Given the description of an element on the screen output the (x, y) to click on. 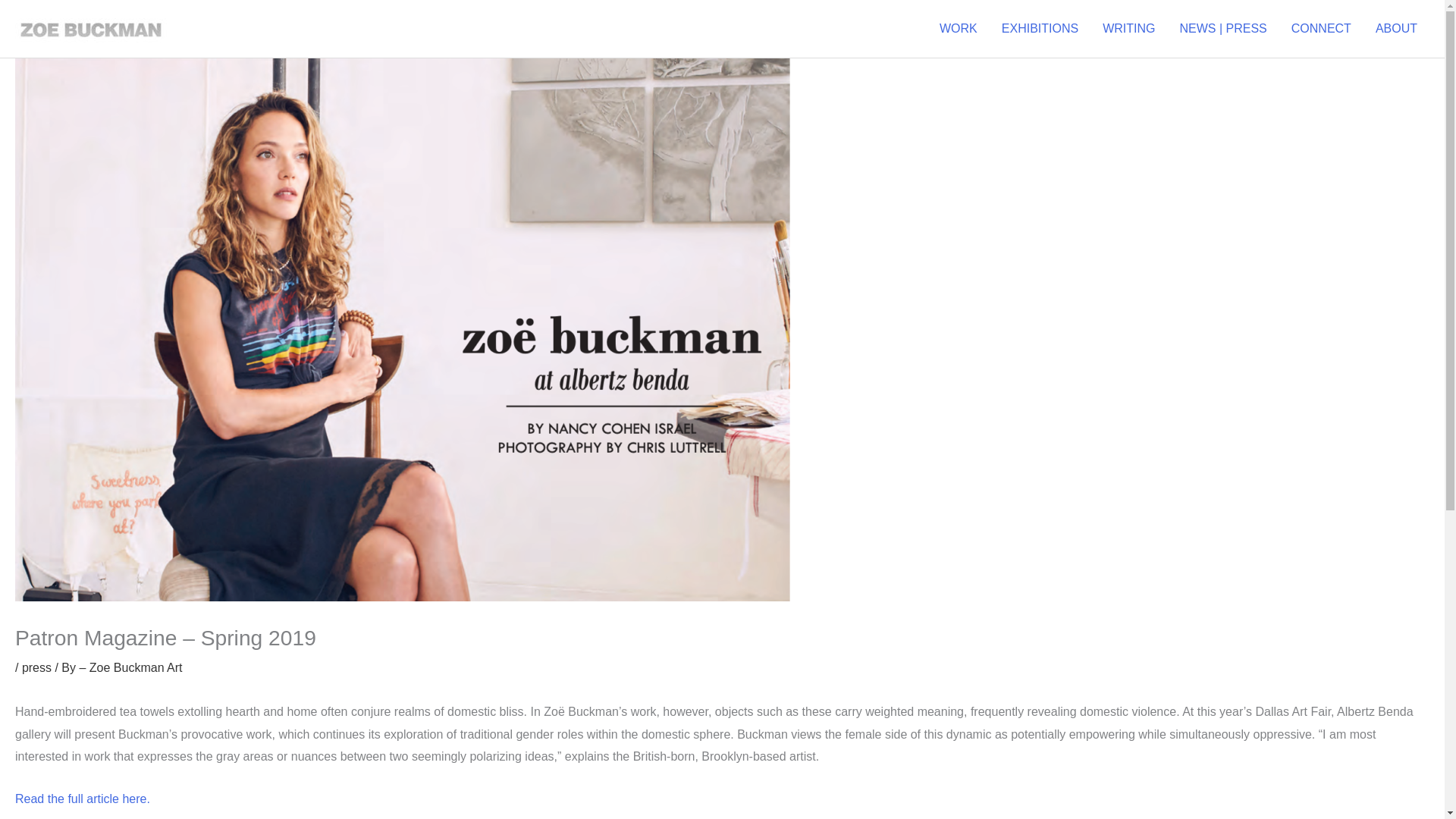
CONNECT (1320, 28)
EXHIBITIONS (1040, 28)
ABOUT (1395, 28)
Read the full article here. (81, 798)
WORK (958, 28)
WRITING (1128, 28)
press (35, 667)
